Given the description of an element on the screen output the (x, y) to click on. 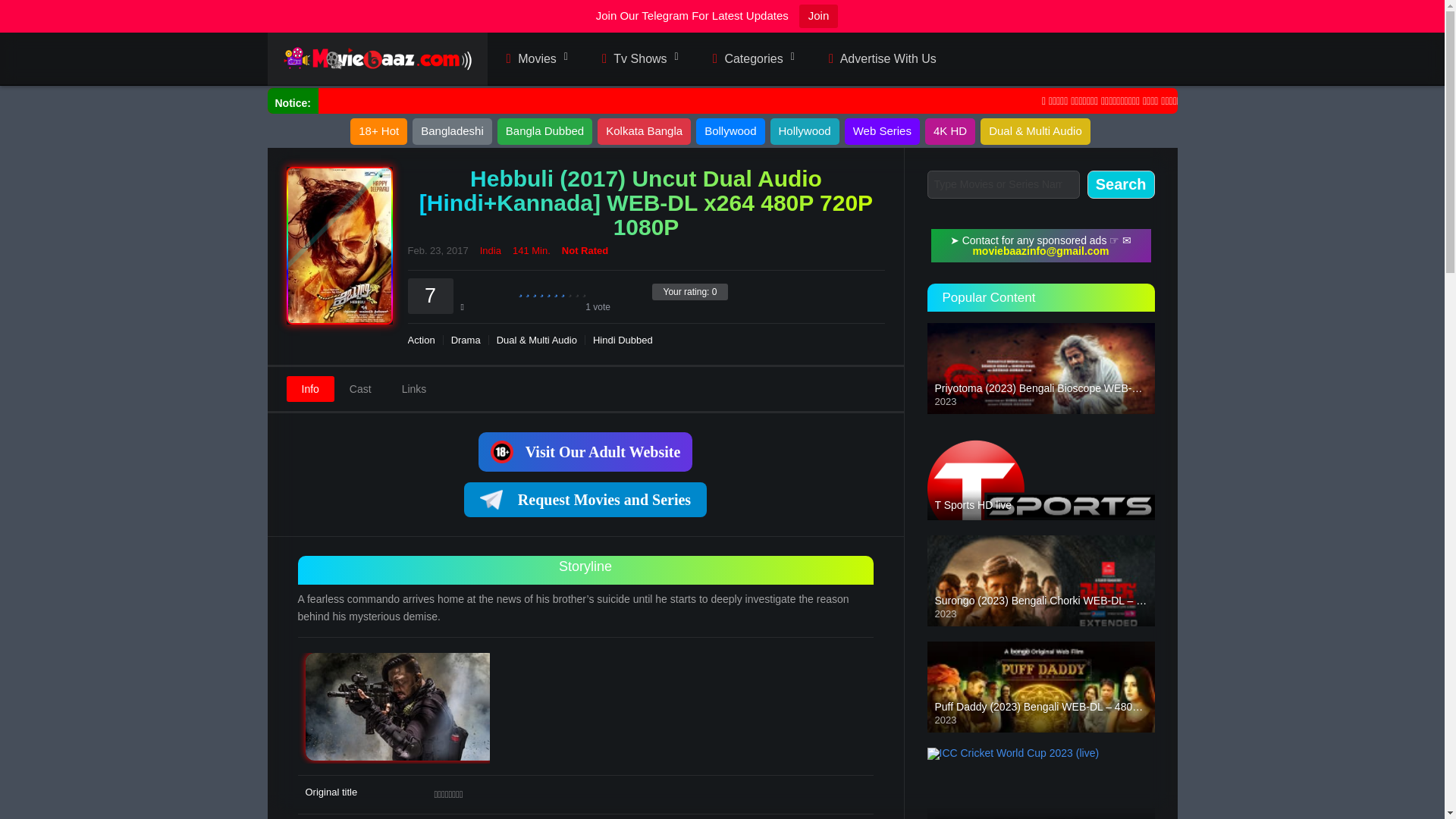
Movies (534, 58)
Tv Shows (638, 58)
Join (818, 15)
Categories (751, 58)
Advertise With Us (880, 58)
